Given the description of an element on the screen output the (x, y) to click on. 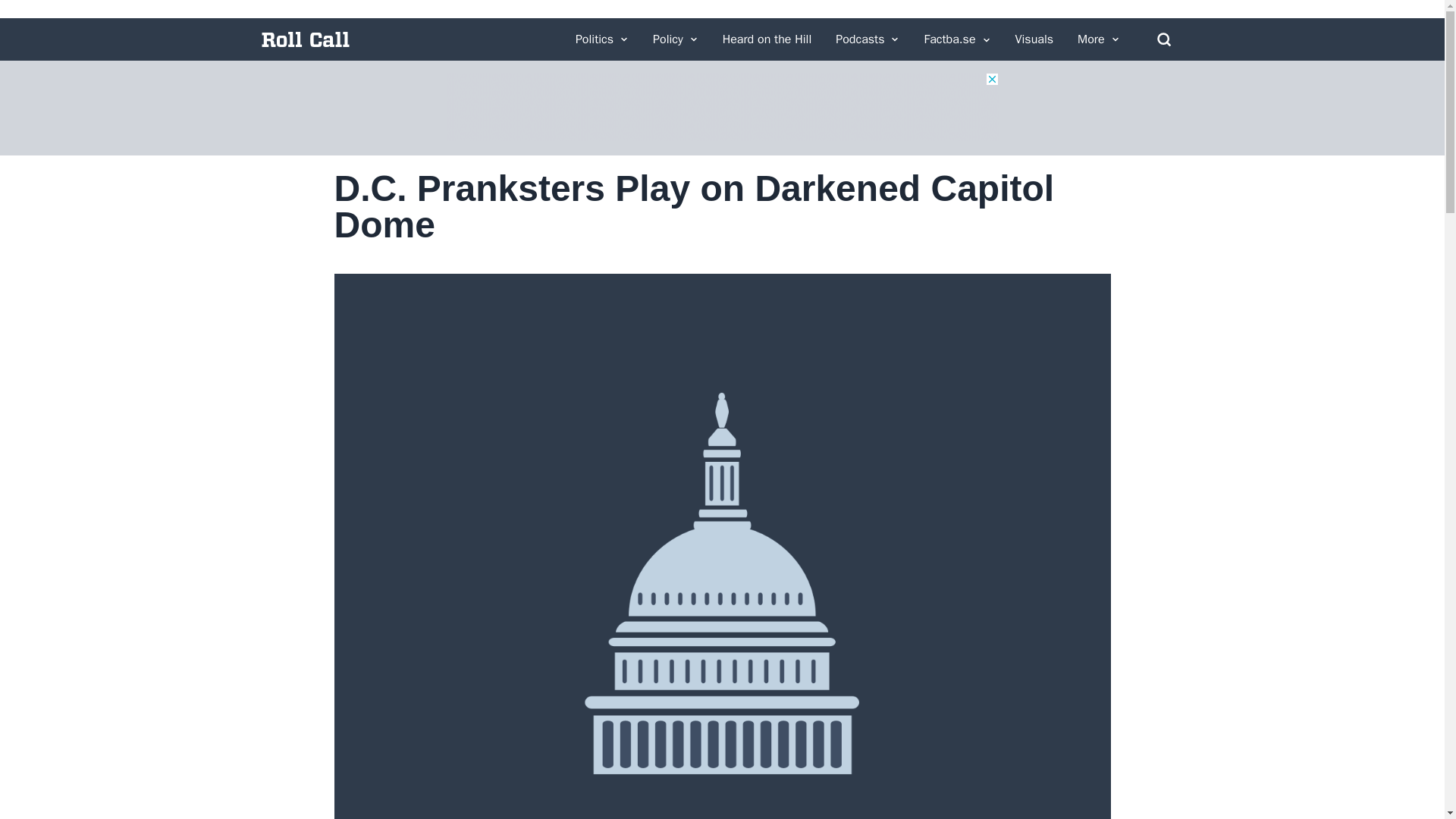
3rd party ad content (721, 106)
